Given the description of an element on the screen output the (x, y) to click on. 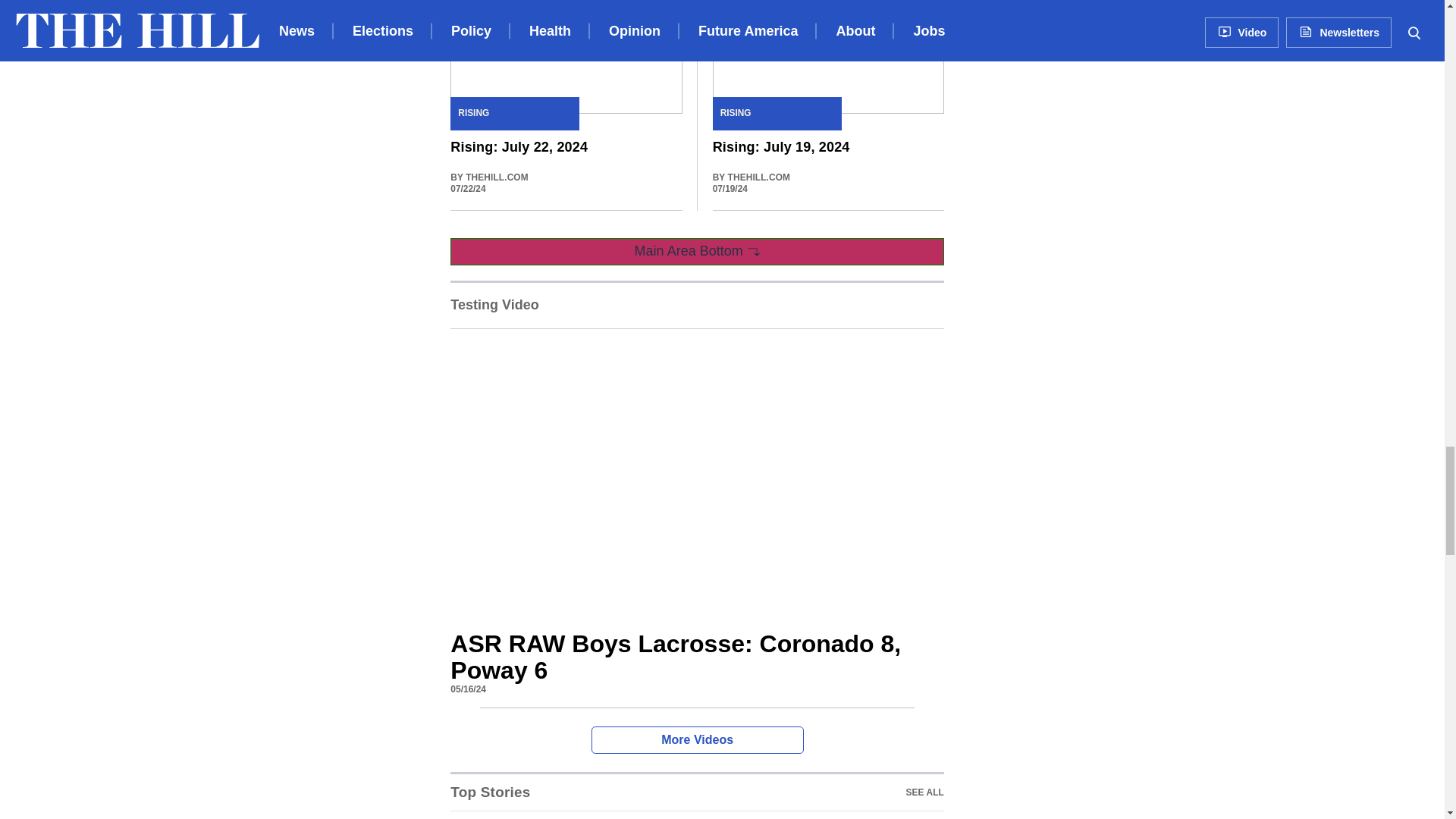
Top Stories (696, 791)
SEE ALL (489, 791)
SEE ALL (924, 792)
